Given the description of an element on the screen output the (x, y) to click on. 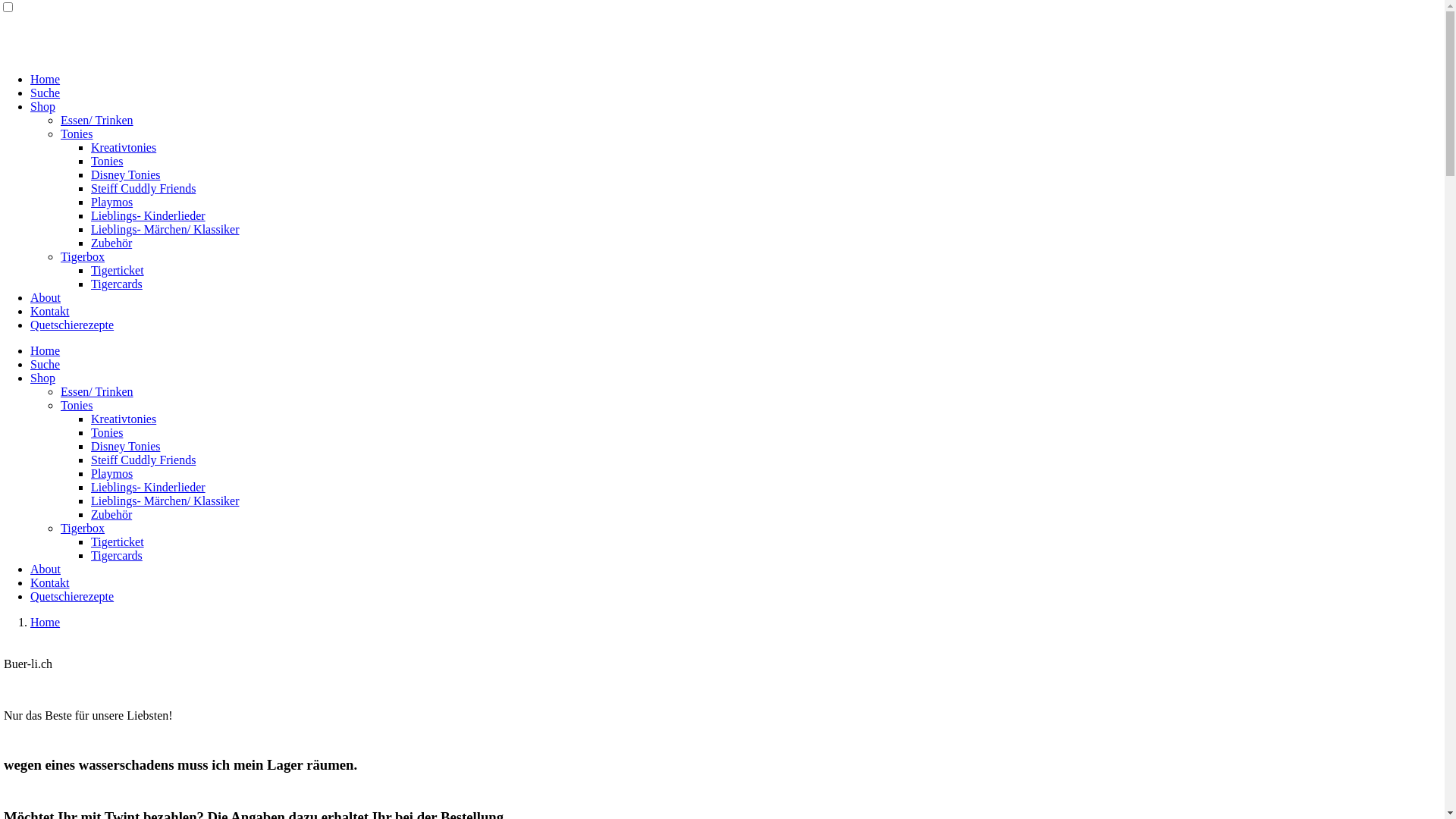
Tigerticket Element type: text (117, 269)
Tonies Element type: text (106, 432)
Steiff Cuddly Friends Element type: text (143, 188)
Steiff Cuddly Friends Element type: text (143, 459)
Kreativtonies Element type: text (123, 147)
Essen/ Trinken Element type: text (96, 391)
Tigerticket Element type: text (117, 541)
Tonies Element type: text (106, 160)
Tonies Element type: text (76, 404)
Quetschierezepte Element type: text (71, 595)
Kontakt Element type: text (49, 582)
Disney Tonies Element type: text (125, 174)
Suche Element type: text (44, 92)
Tonies Element type: text (76, 133)
About Element type: text (45, 297)
Lieblings- Kinderlieder Element type: text (148, 486)
Shop Element type: text (42, 106)
Tigercards Element type: text (116, 555)
Lieblings- Kinderlieder Element type: text (148, 215)
Kontakt Element type: text (49, 310)
Home Element type: text (44, 621)
Tigercards Element type: text (116, 283)
Tigerbox Element type: text (82, 256)
Playmos Element type: text (111, 201)
About Element type: text (45, 568)
Essen/ Trinken Element type: text (96, 119)
Disney Tonies Element type: text (125, 445)
Suche Element type: text (44, 363)
Home Element type: text (44, 78)
Home Element type: text (44, 350)
Quetschierezepte Element type: text (71, 324)
Kreativtonies Element type: text (123, 418)
Tigerbox Element type: text (82, 527)
Playmos Element type: text (111, 473)
Shop Element type: text (42, 377)
